Given the description of an element on the screen output the (x, y) to click on. 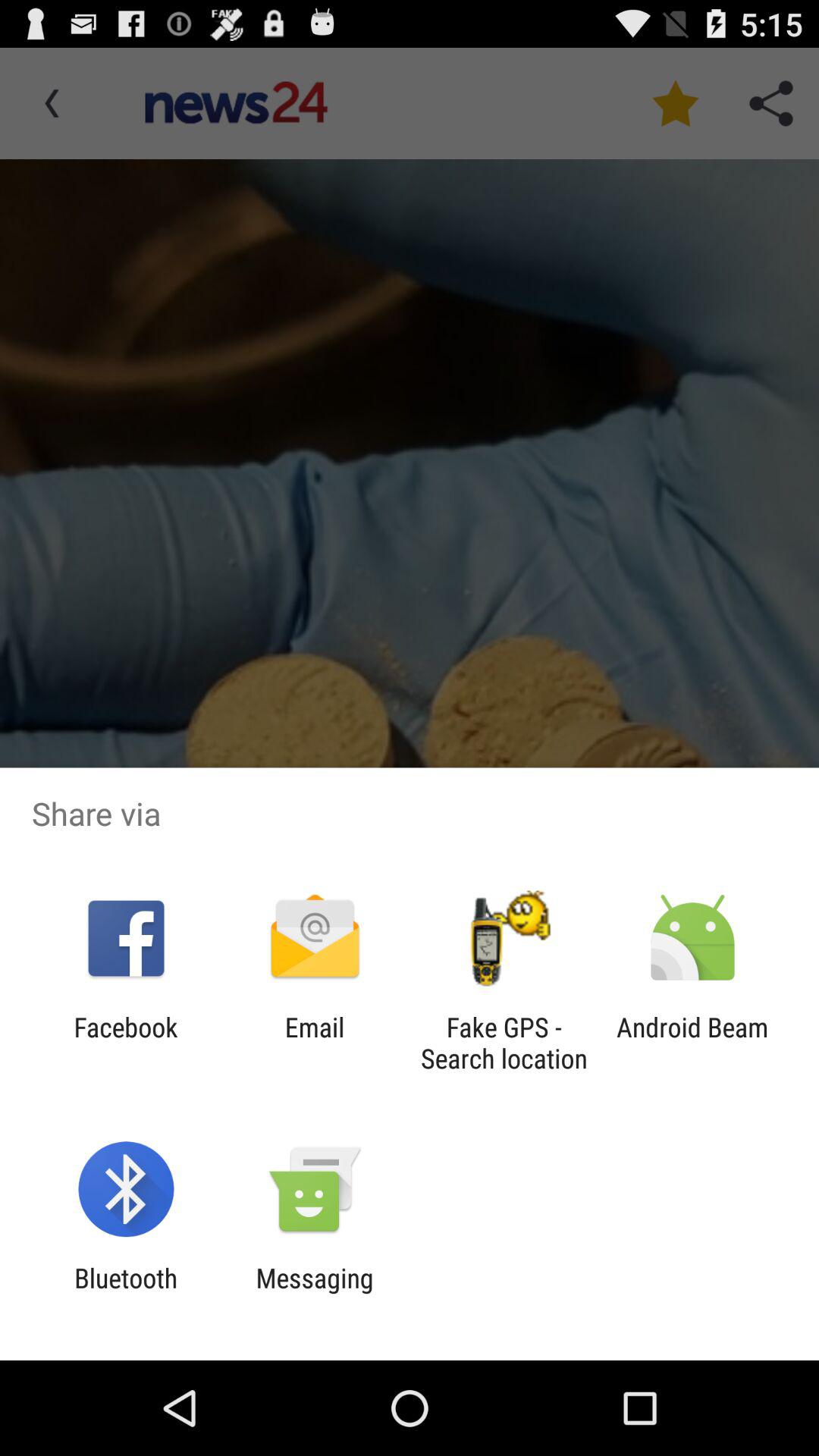
turn on item next to the facebook (314, 1042)
